Given the description of an element on the screen output the (x, y) to click on. 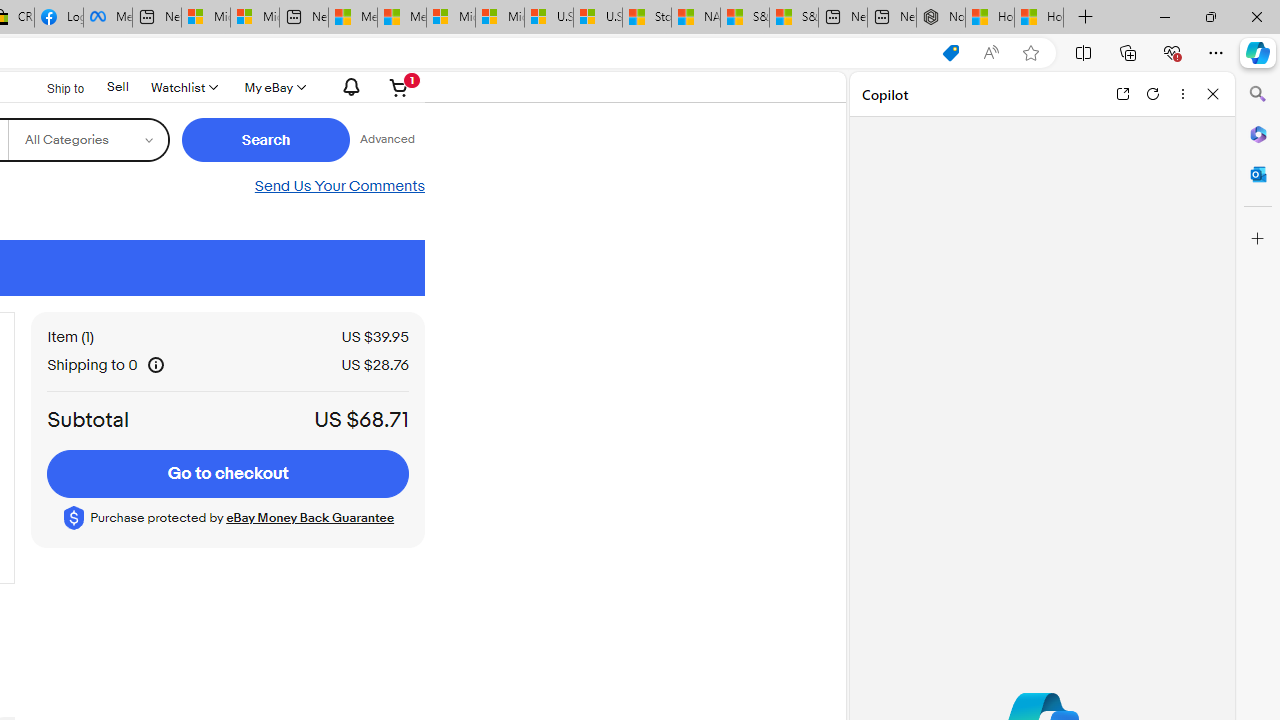
My eBayExpand My eBay (273, 87)
Ship to (52, 85)
Advanced Search (386, 139)
My eBay (273, 87)
Log into Facebook (58, 17)
How to Use a Monitor With Your Closed Laptop (1039, 17)
Select a category for search (86, 139)
